Given the description of an element on the screen output the (x, y) to click on. 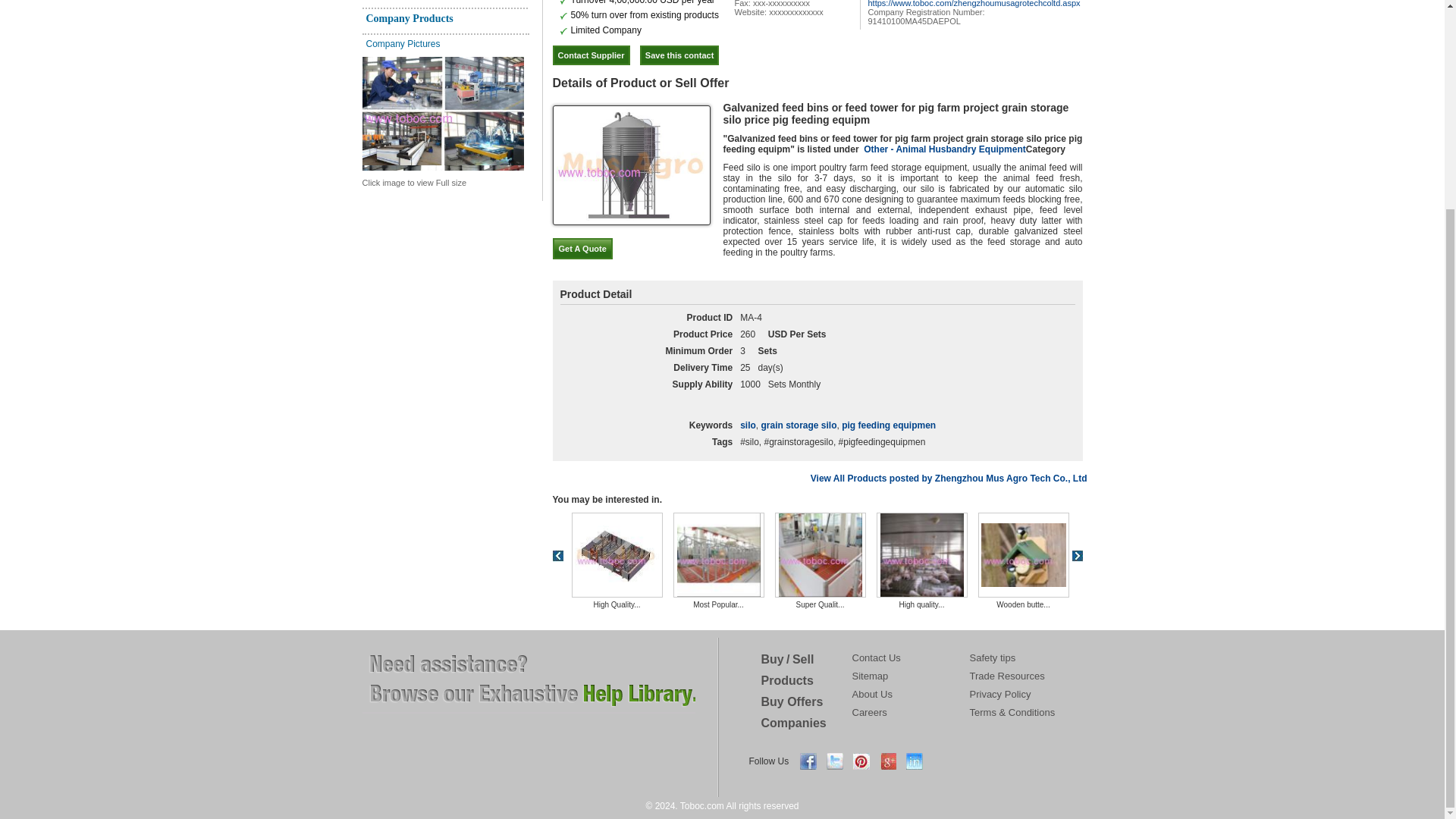
silo (747, 425)
grain storage silo (797, 425)
High Quality... (617, 548)
View All Products posted by Zhengzhou Mus Agro Tech Co., Ltd (948, 479)
Contact Supplier (589, 55)
Contact Supplier (589, 55)
Save this contact (679, 55)
High quality... (920, 554)
pig feeding equipmen (888, 425)
Most Popular... (718, 554)
